Given the description of an element on the screen output the (x, y) to click on. 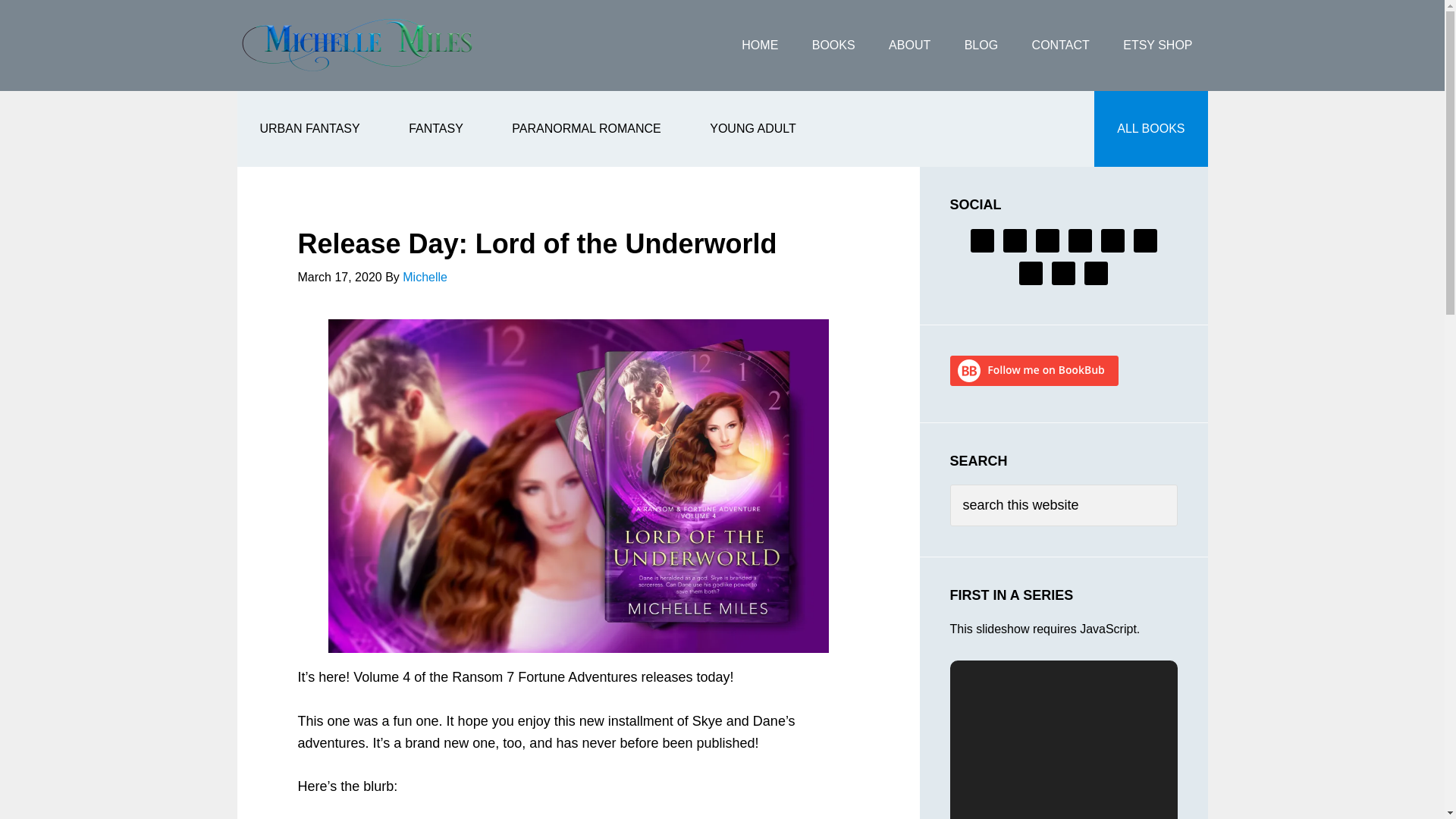
Michelle Miles Author (357, 45)
PARANORMAL ROMANCE (585, 128)
Michelle (424, 277)
YOUNG ADULT (752, 128)
CONTACT (1060, 45)
FANTASY (435, 128)
ETSY SHOP (1157, 45)
URBAN FANTASY (308, 128)
ALL BOOKS (1150, 128)
